Given the description of an element on the screen output the (x, y) to click on. 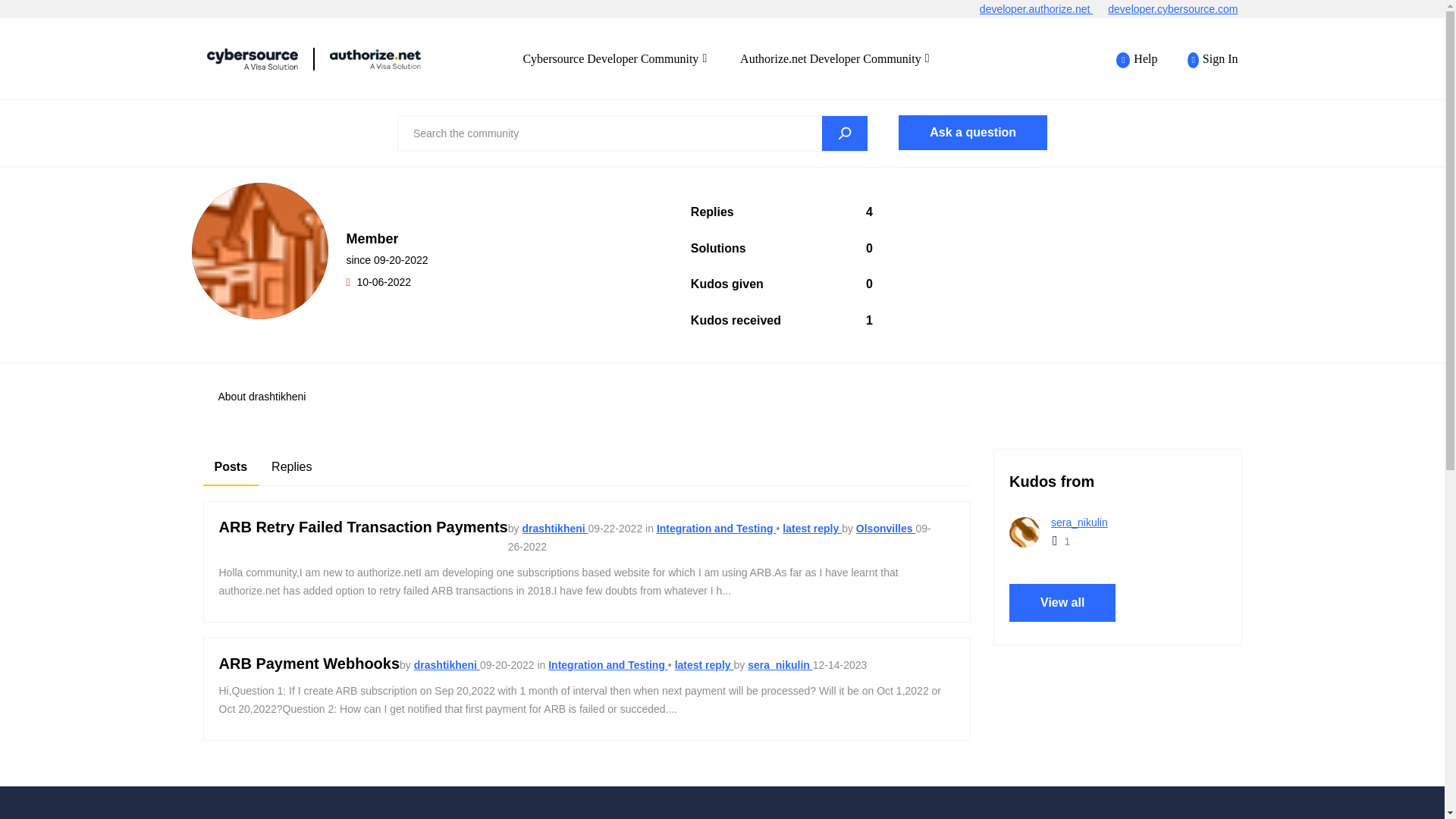
Ask a question (972, 132)
developer.cybersource.com (1180, 9)
latest reply (812, 528)
drashtikheni (258, 250)
Search (632, 133)
Help (1136, 58)
Replies (291, 467)
Olsonvilles (885, 528)
Cybersource Developer Community (614, 58)
developer.authorize.net (1043, 9)
View profile (446, 664)
Authorize.net Developer Community (834, 58)
View post (812, 528)
Search (844, 133)
ARB Payment Webhooks (308, 663)
